Given the description of an element on the screen output the (x, y) to click on. 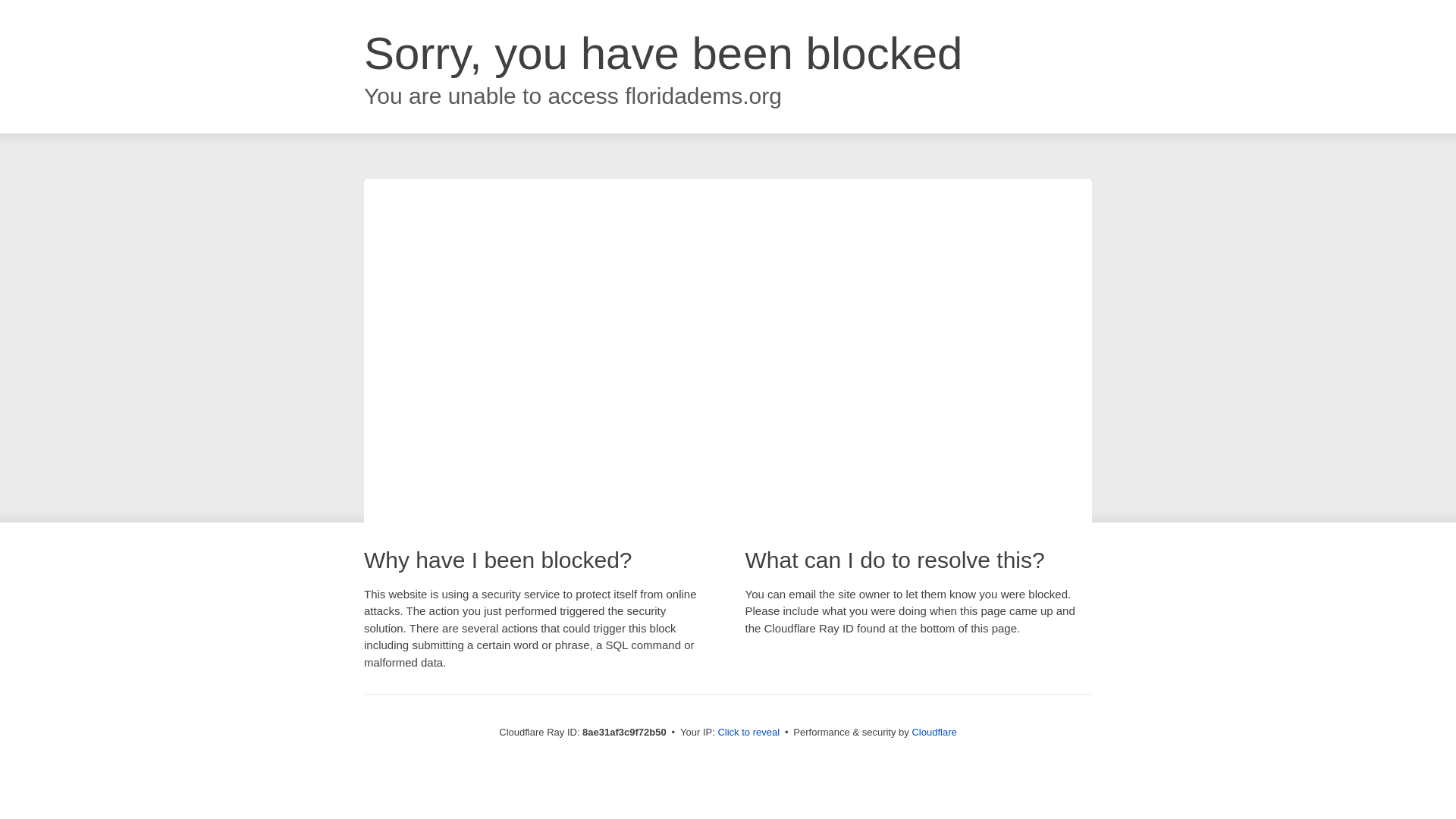
Cloudflare (933, 731)
Click to reveal (747, 732)
